Given the description of an element on the screen output the (x, y) to click on. 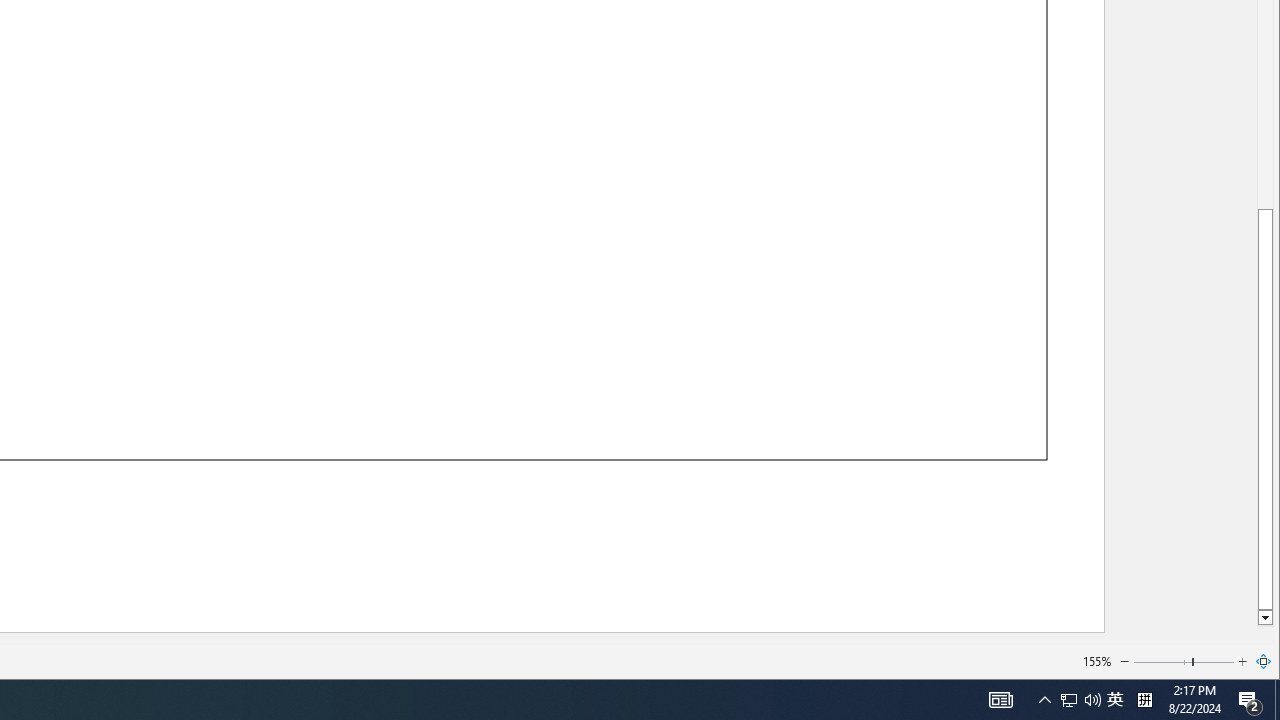
Zoom to Page (1263, 661)
Page left (1162, 661)
155% (1096, 660)
Page right (1214, 661)
